Given the description of an element on the screen output the (x, y) to click on. 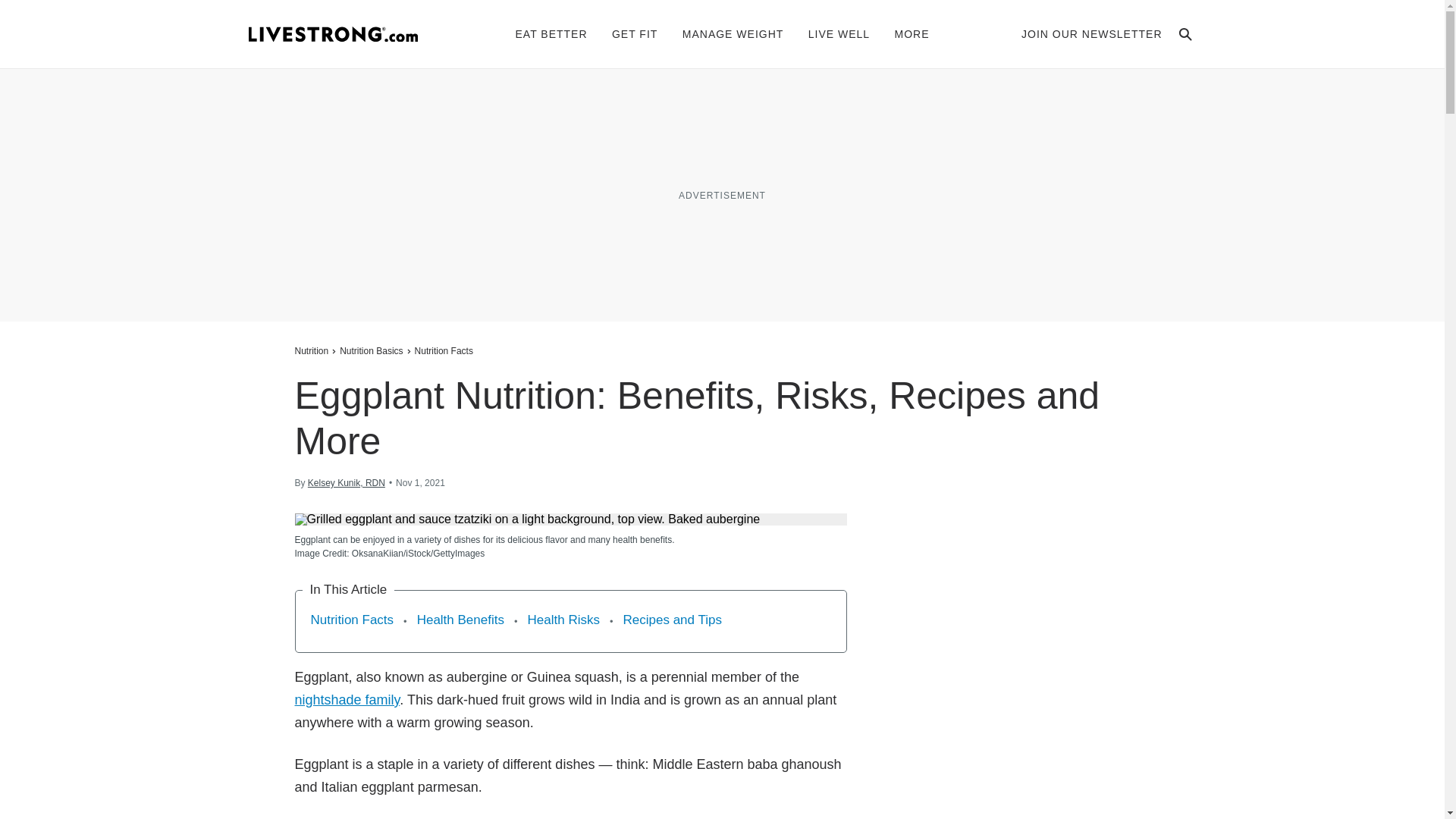
Recipes and Tips (672, 619)
Nutrition Facts (352, 619)
EAT BETTER (551, 33)
Nutrition (312, 350)
LIVE WELL (838, 33)
nightshade family (346, 699)
Nutrition Basics (371, 350)
Health Risks (563, 619)
GET FIT (634, 33)
Nutrition Facts (443, 350)
MANAGE WEIGHT (733, 33)
Kelsey Kunik, RDN (346, 482)
Health Benefits (459, 619)
JOIN OUR NEWSLETTER (1091, 33)
